Given the description of an element on the screen output the (x, y) to click on. 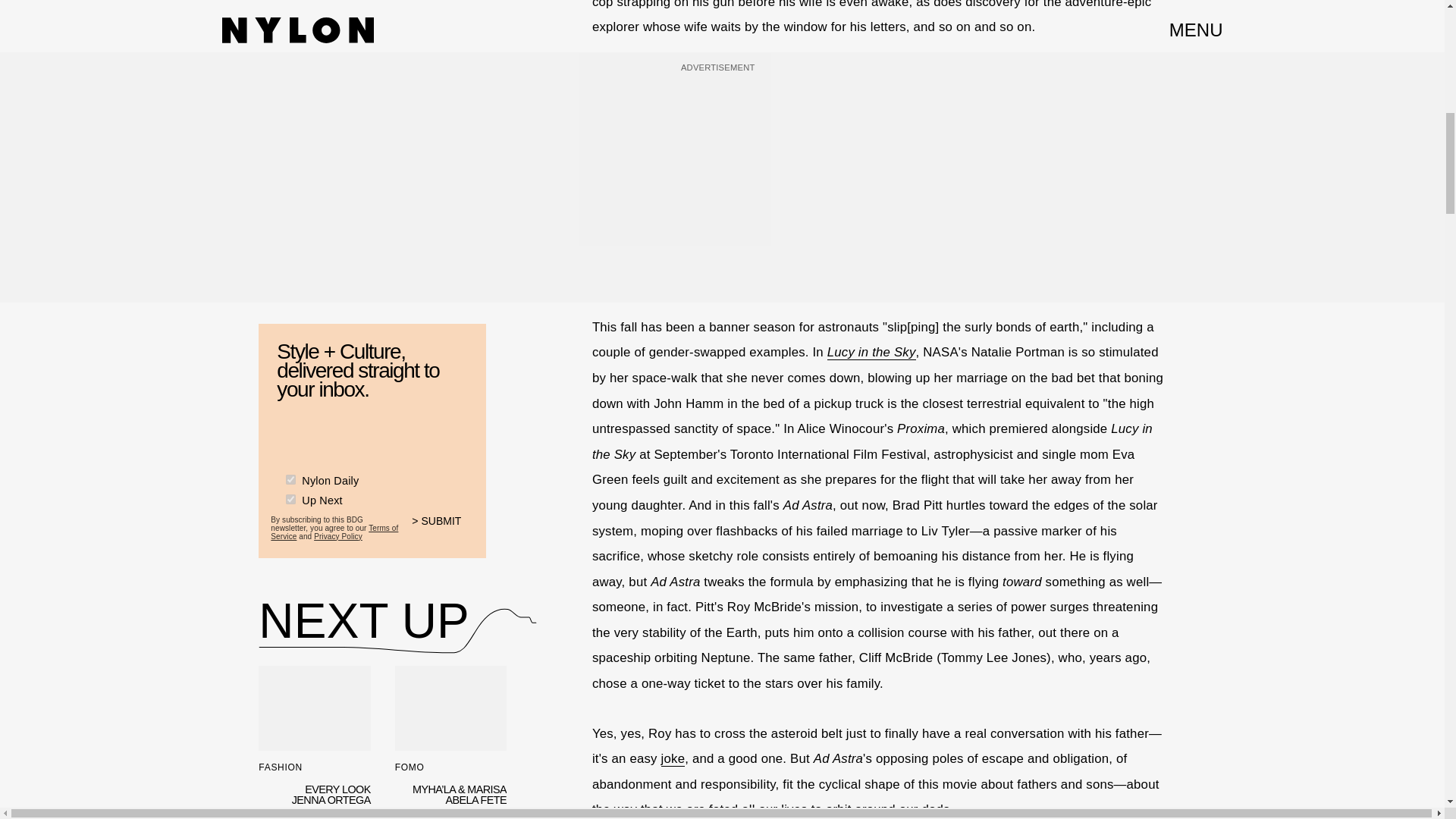
Lucy in the Sky (871, 352)
SUBMIT (443, 530)
joke (673, 758)
Privacy Policy (338, 536)
Terms of Service (333, 532)
